Given the description of an element on the screen output the (x, y) to click on. 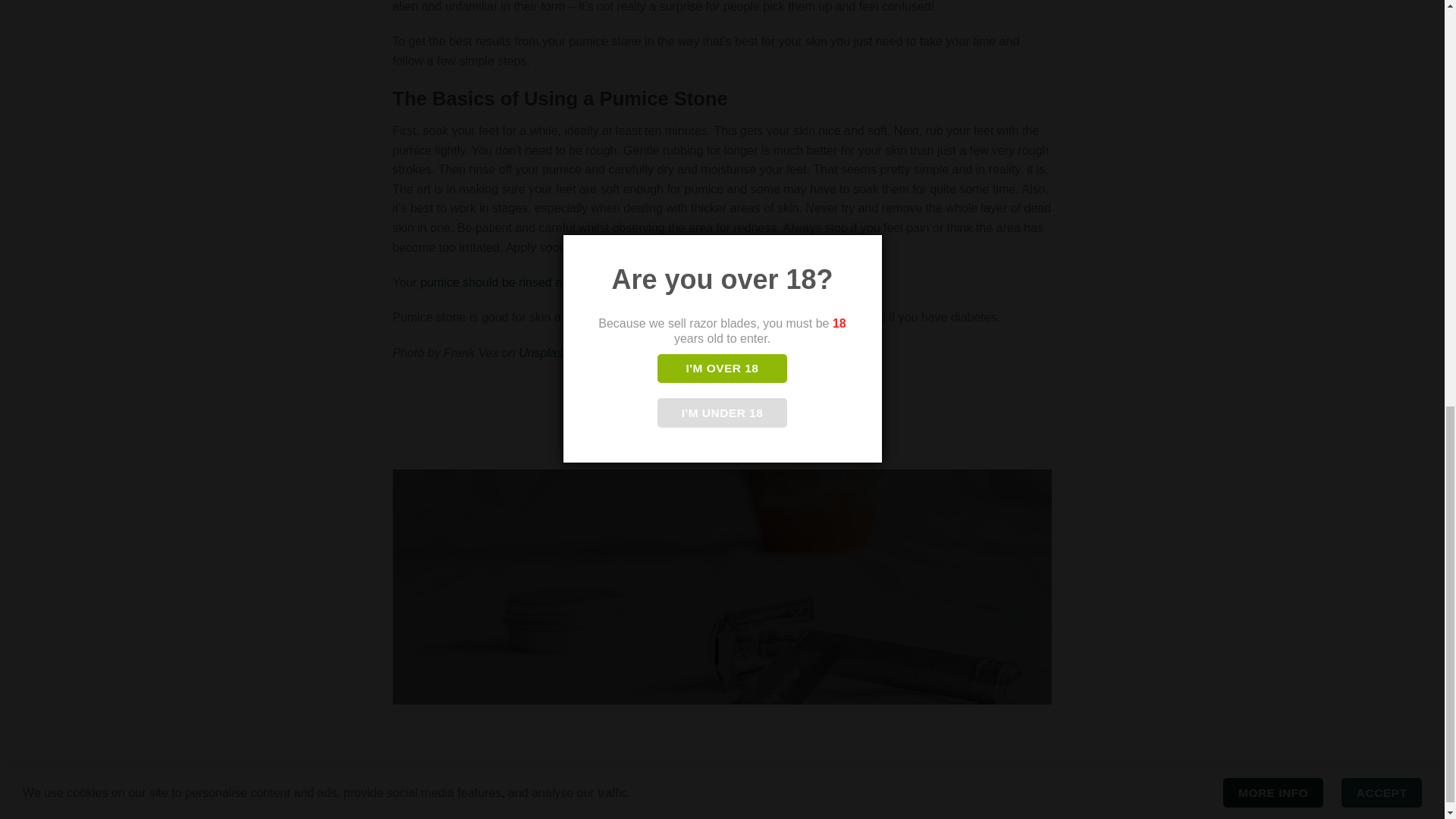
Share on Facebook (668, 405)
Share on LinkedIn (777, 405)
Unsplash (543, 352)
pumice should be rinsed and allowed to dry (536, 282)
Share on Twitter (694, 405)
Pin on Pinterest (750, 405)
Email to a Friend (722, 405)
